Given the description of an element on the screen output the (x, y) to click on. 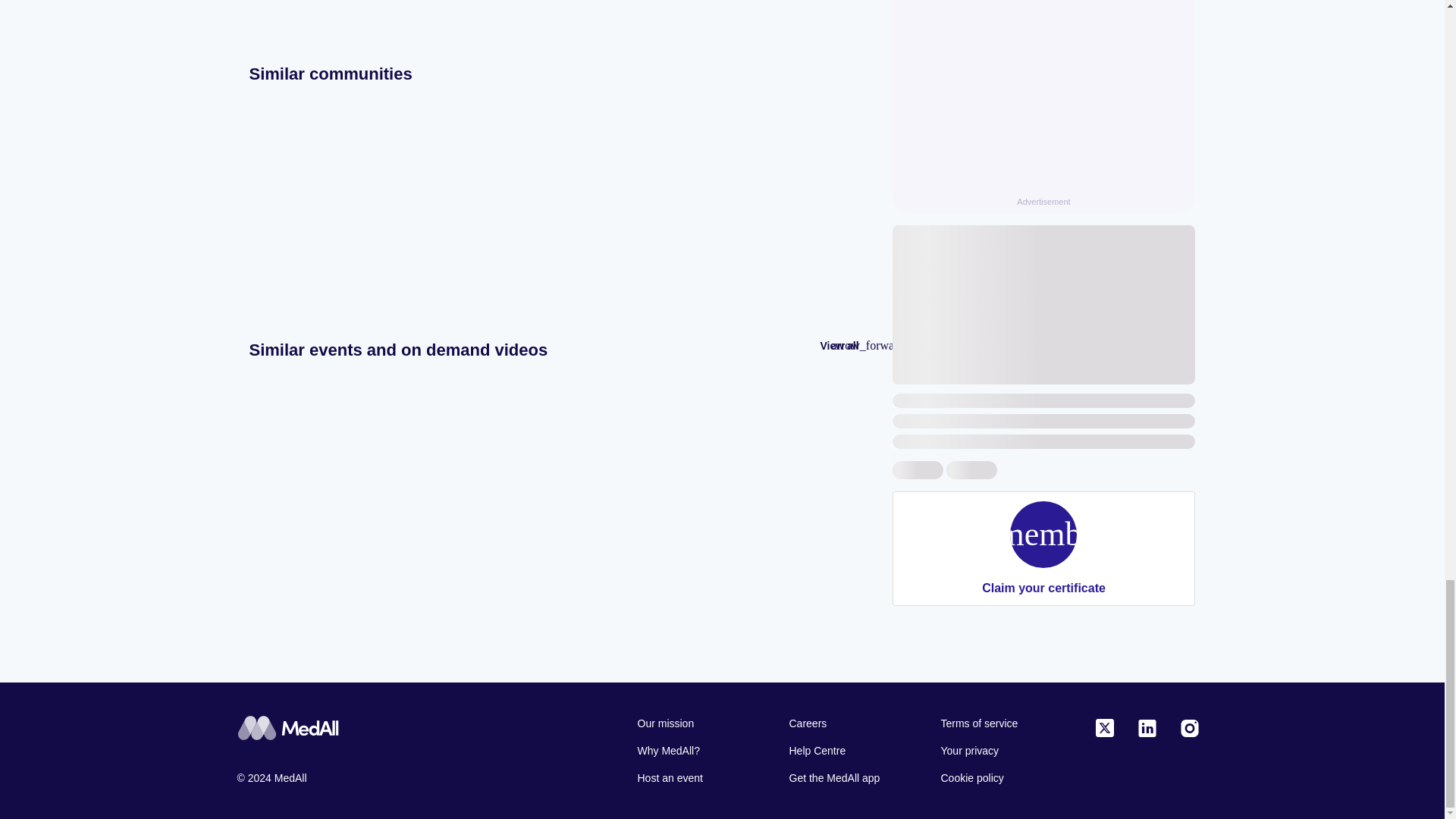
Why MedAll? (698, 750)
Host an event (698, 777)
Our mission (698, 723)
